Given the description of an element on the screen output the (x, y) to click on. 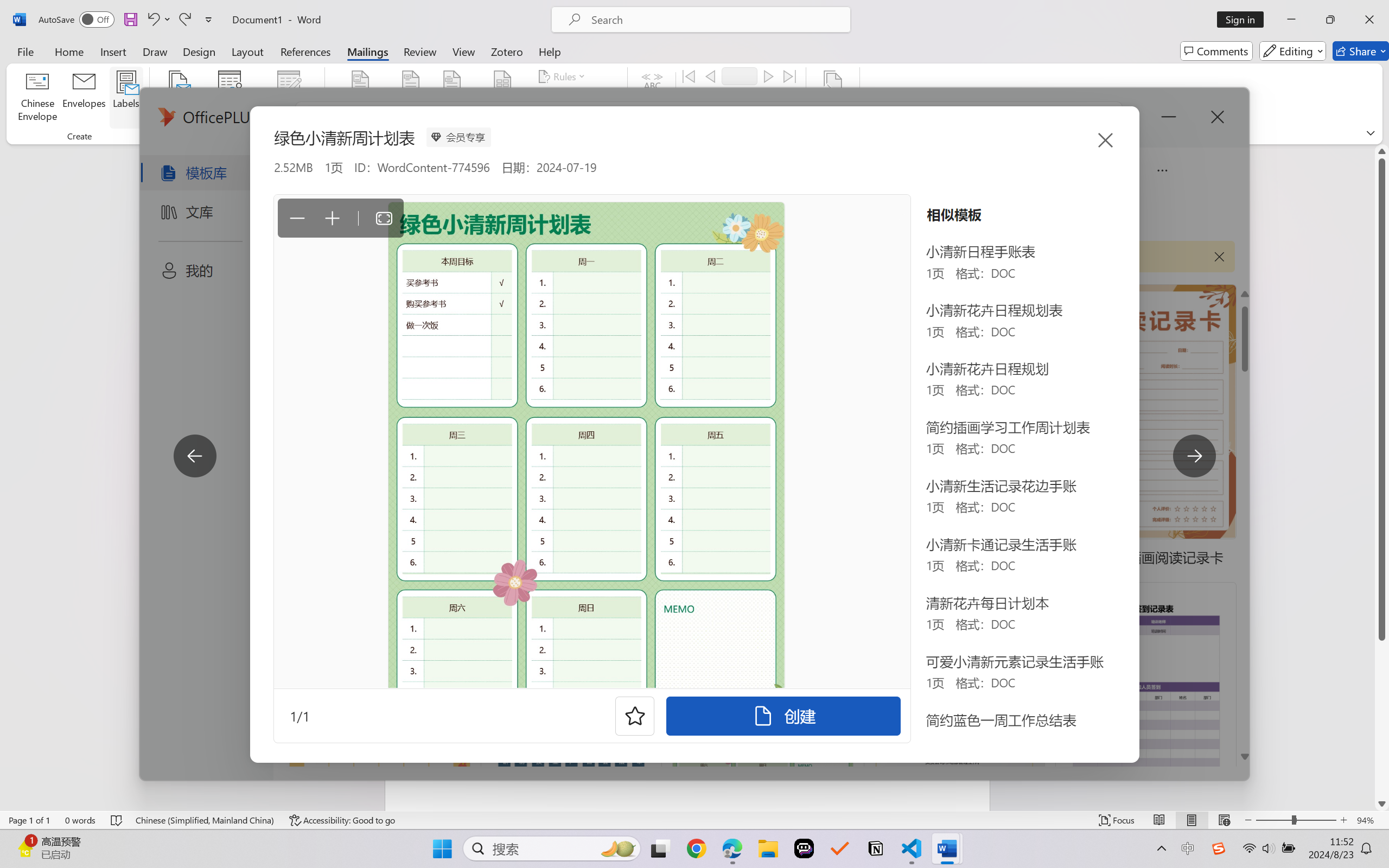
Edit Recipient List... (288, 97)
Start Mail Merge (177, 97)
Preview Results (652, 97)
Previous (709, 75)
